Given the description of an element on the screen output the (x, y) to click on. 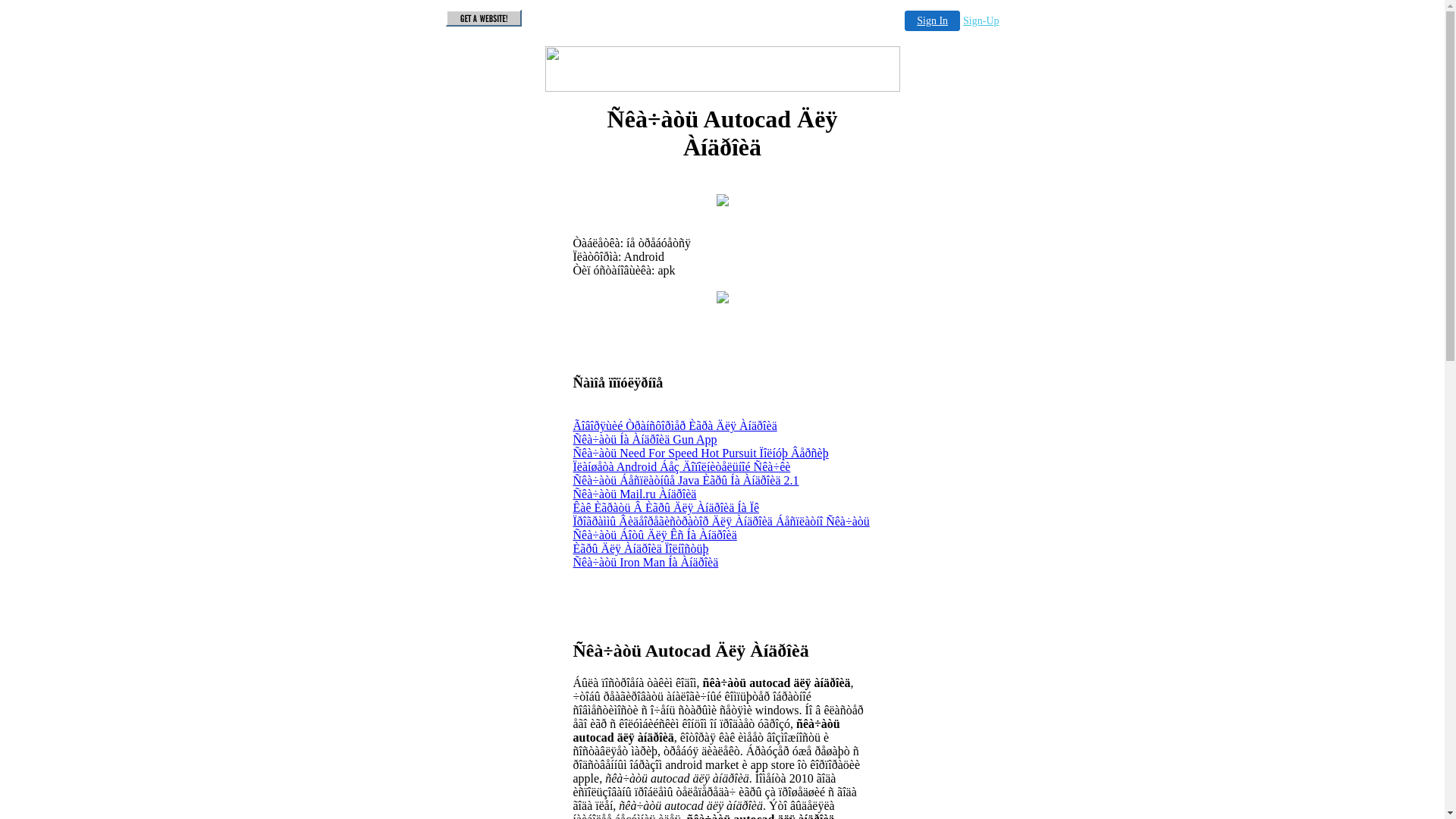
Sign-Up Element type: text (980, 20)
Sign In Element type: text (932, 20)
